Given the description of an element on the screen output the (x, y) to click on. 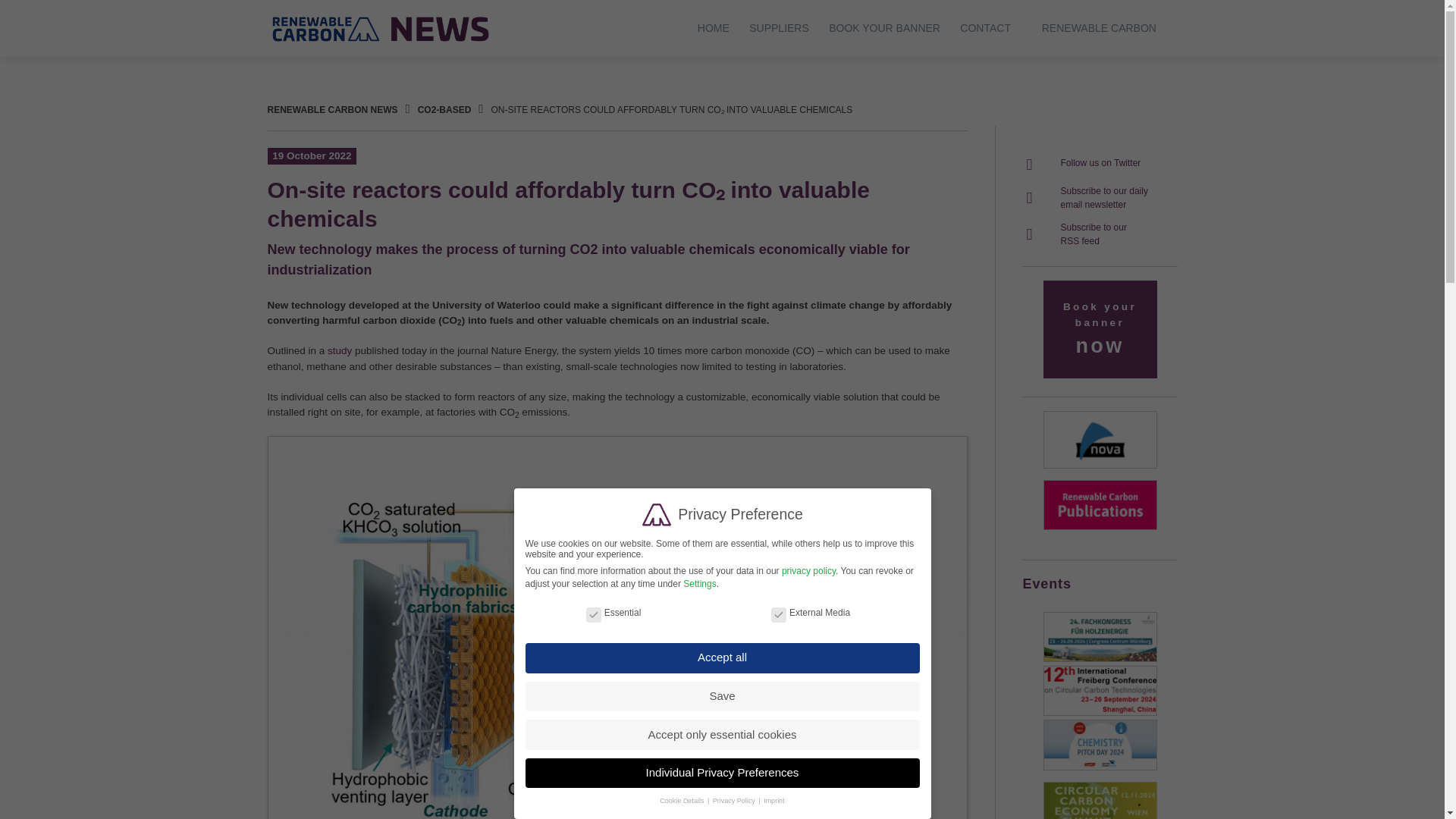
Follow us on Twitter (1081, 163)
SUPPLIERS (779, 28)
study (339, 350)
CO2-BASED (444, 109)
Renewable Carbon News (380, 28)
CONTACT (984, 28)
BOOK YOUR BANNER (884, 28)
Renewable Carbon News (331, 109)
RENEWABLE CARBON (1099, 28)
RENEWABLE CARBON NEWS (1084, 190)
